Given the description of an element on the screen output the (x, y) to click on. 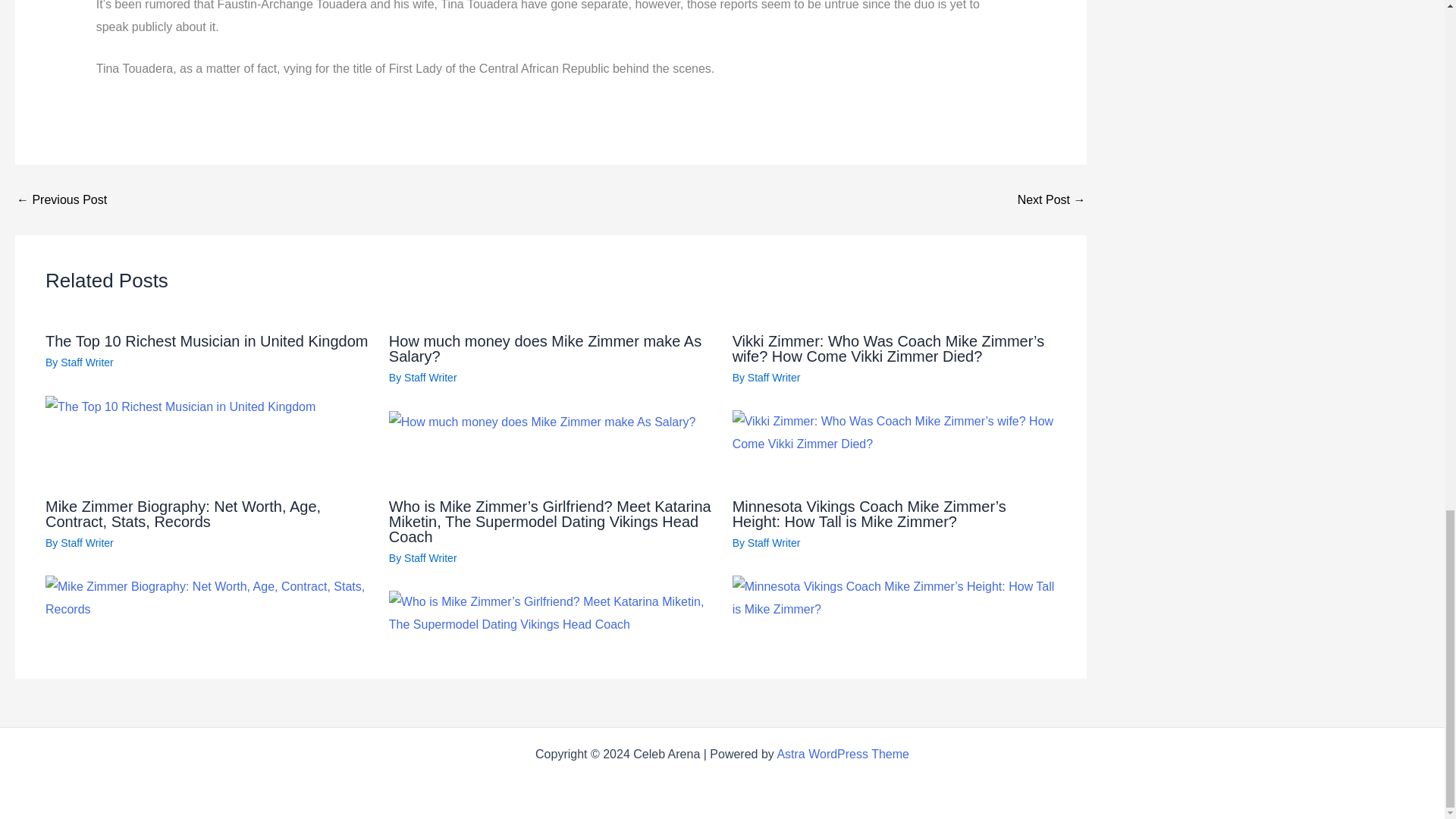
View all posts by Staff Writer (774, 542)
View all posts by Staff Writer (430, 377)
View all posts by Staff Writer (774, 377)
View all posts by Staff Writer (87, 362)
View all posts by Staff Writer (430, 558)
View all posts by Staff Writer (87, 542)
